Given the description of an element on the screen output the (x, y) to click on. 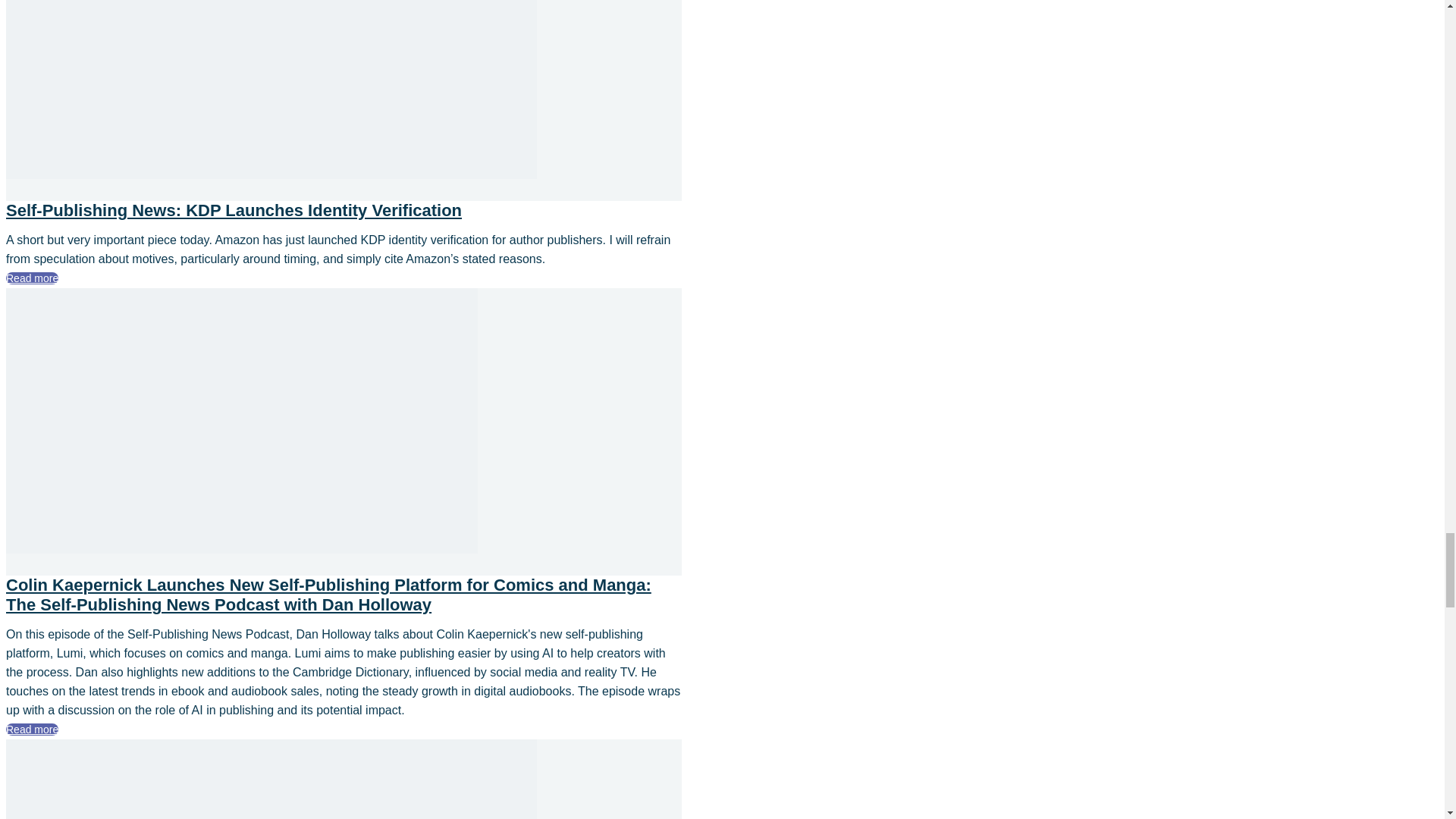
Self-Publishing News: KDP Launches Identity Verification (271, 174)
